Given the description of an element on the screen output the (x, y) to click on. 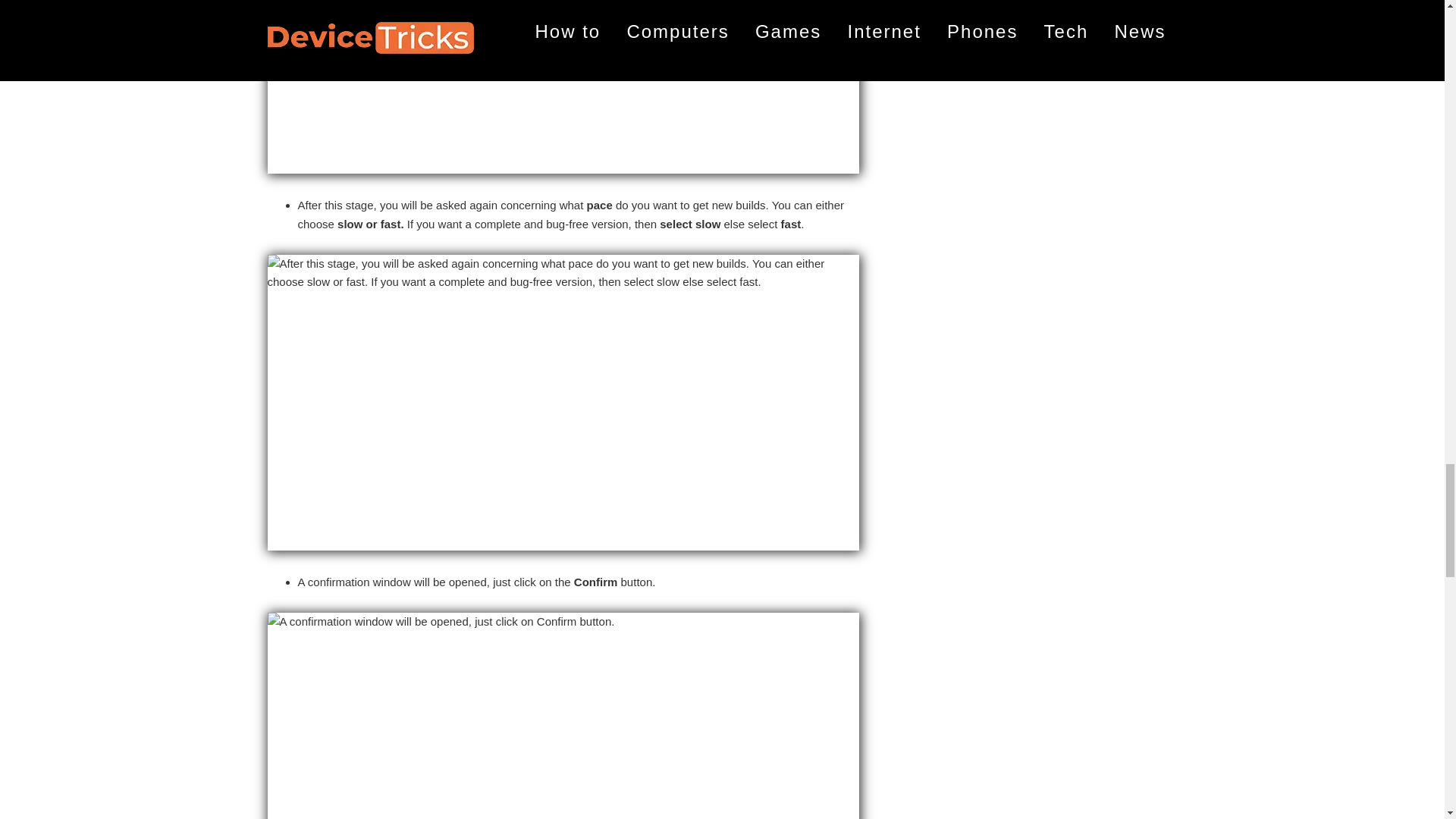
How to Install Windows 10 October 2018 Update right now ? (562, 715)
How to Install Windows 10 October 2018 Update right now ? (562, 86)
